Given the description of an element on the screen output the (x, y) to click on. 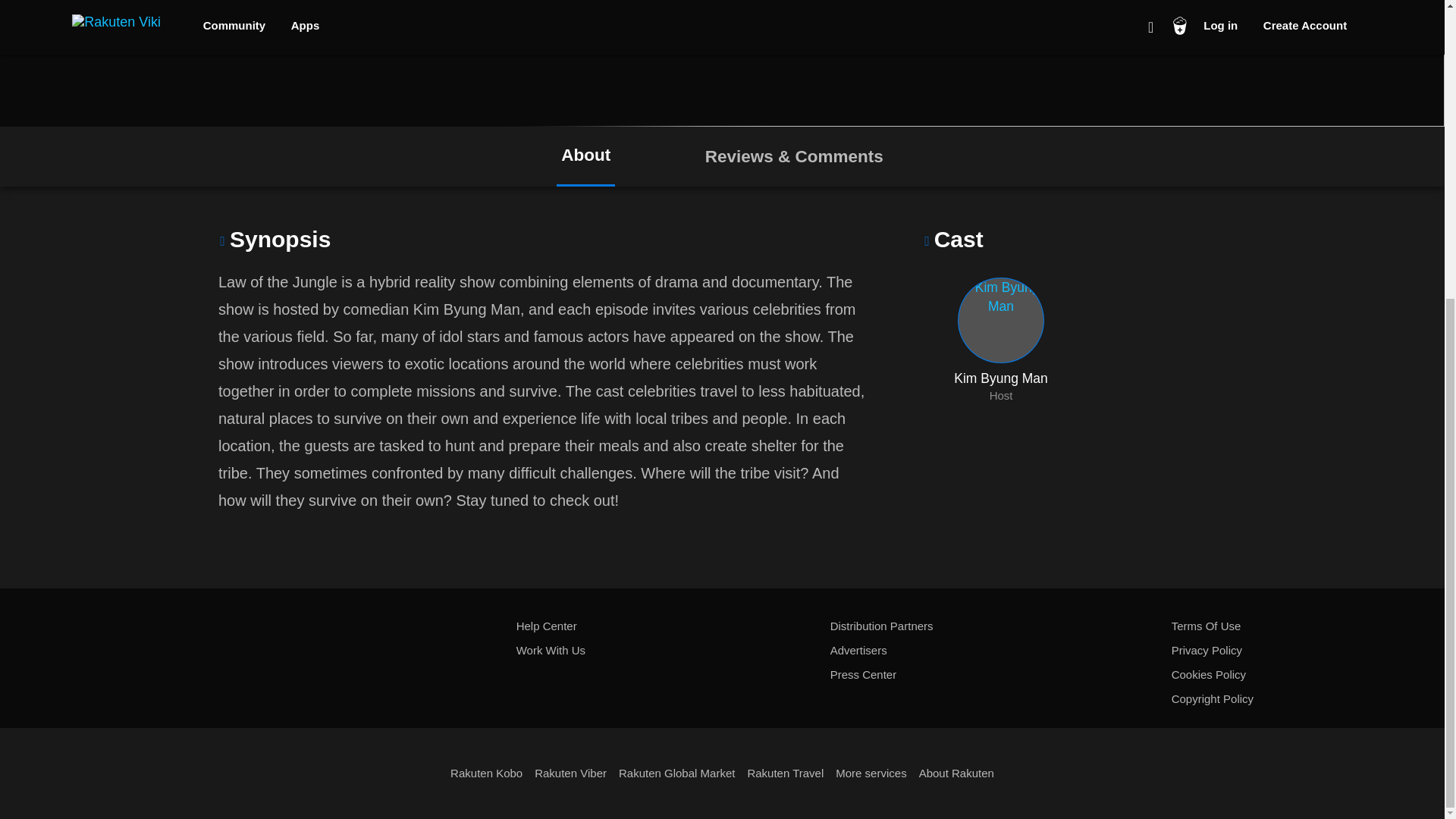
Advertisers (857, 650)
Cookie Settings (976, 407)
Help Center (546, 626)
About (585, 156)
Cookies Policy (240, 431)
Terms Of Use (1206, 626)
Accept All (1107, 406)
Press Center (862, 674)
Distribution Partners (1000, 340)
Privacy Policy (881, 626)
Work With Us (1206, 650)
